Given the description of an element on the screen output the (x, y) to click on. 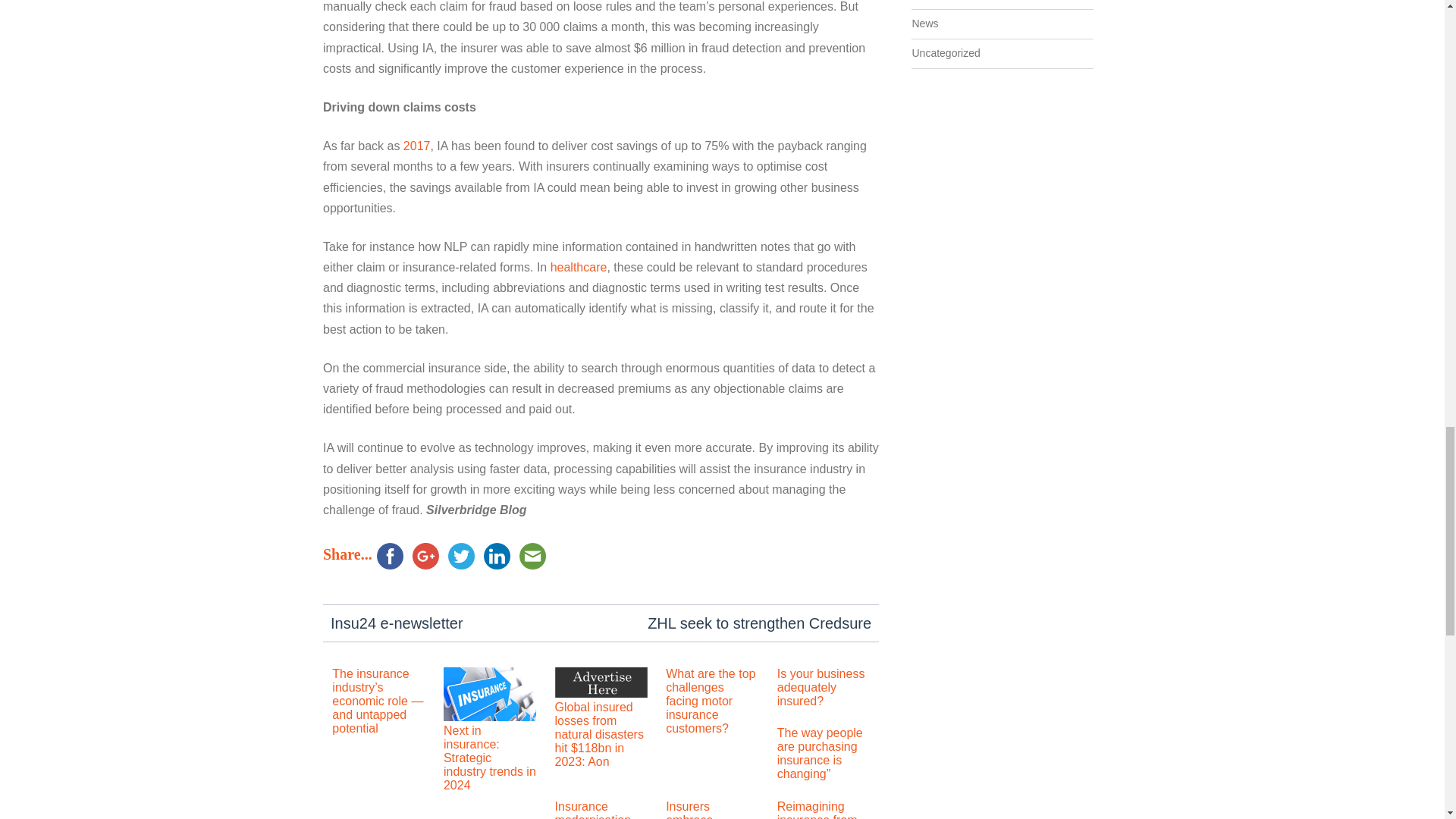
facebook (389, 556)
linkedin (497, 556)
google (425, 556)
email (532, 556)
Share... (347, 554)
Next in insurance: Strategic industry trends in 2024 (489, 716)
2017 (416, 145)
Insu24 e-newsletter (396, 623)
Next in insurance: Strategic industry trends in 2024 (489, 757)
ZHL seek to strengthen Credsure (759, 623)
healthcare (578, 267)
twitter (461, 556)
